Given the description of an element on the screen output the (x, y) to click on. 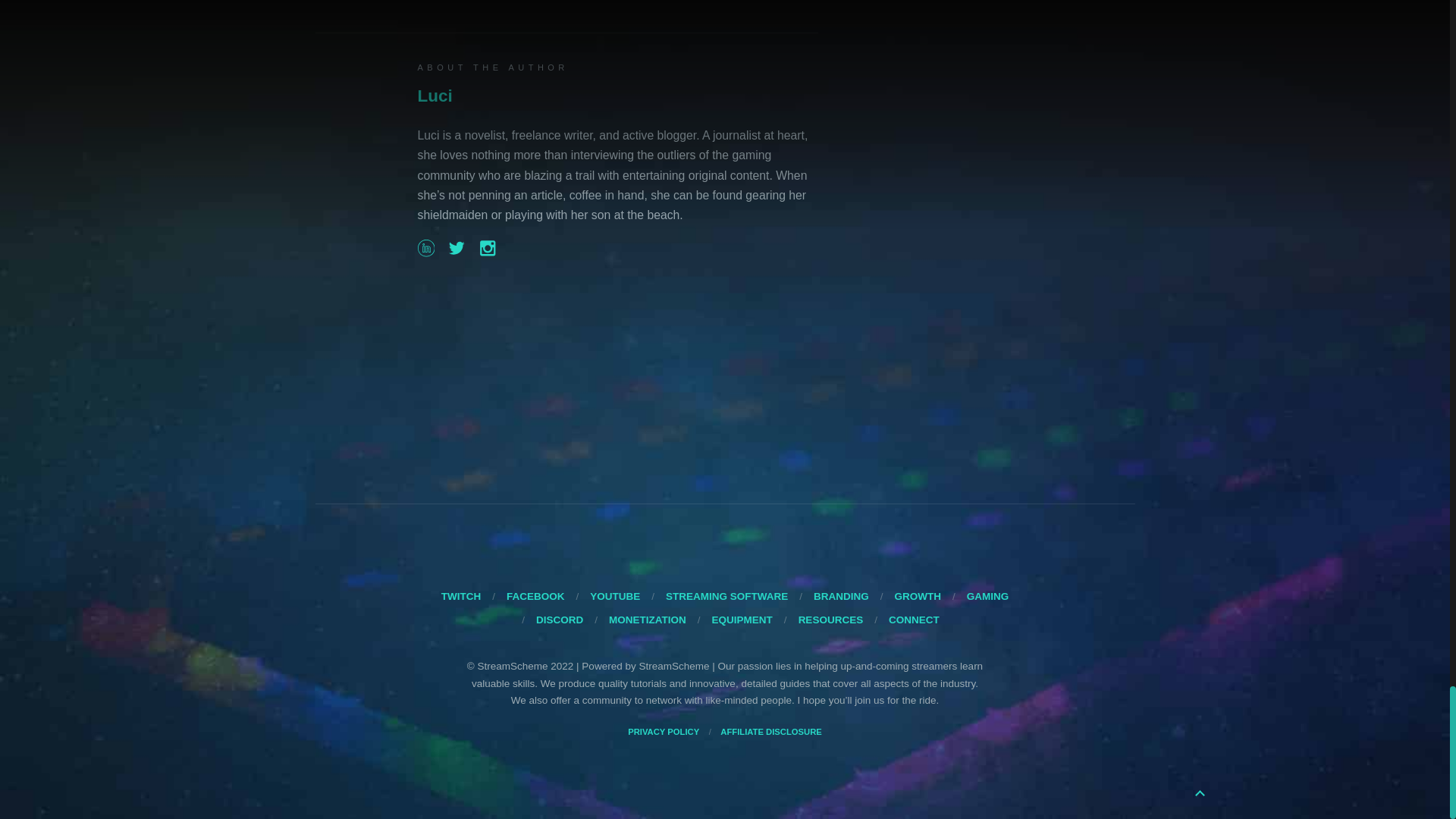
instagram (475, 2)
linkedin (487, 247)
twitter1 (424, 247)
linkedin (412, 2)
twitter1 (456, 247)
